Given the description of an element on the screen output the (x, y) to click on. 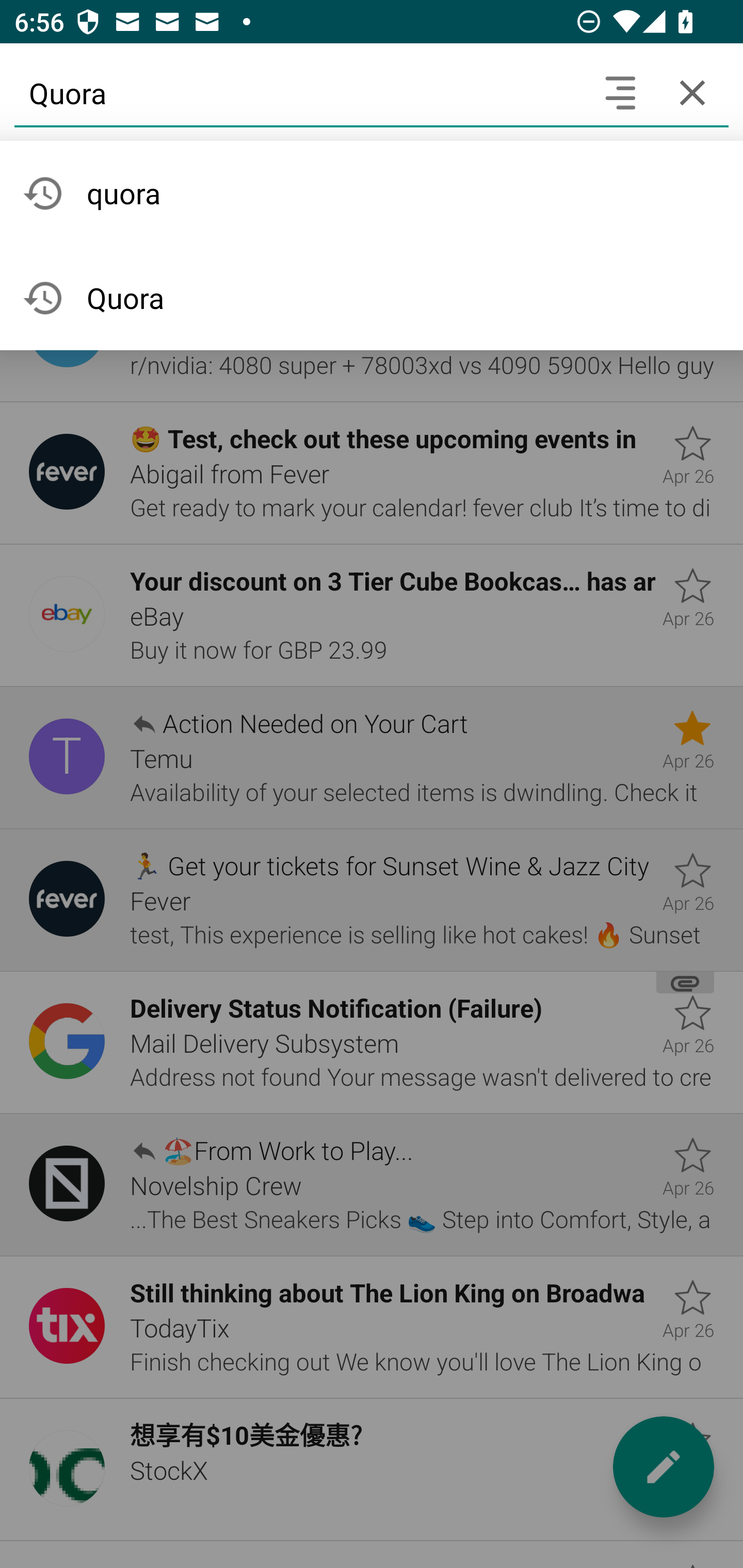
Quora (298, 92)
Search headers and text (619, 92)
Cancel (692, 92)
